Given the description of an element on the screen output the (x, y) to click on. 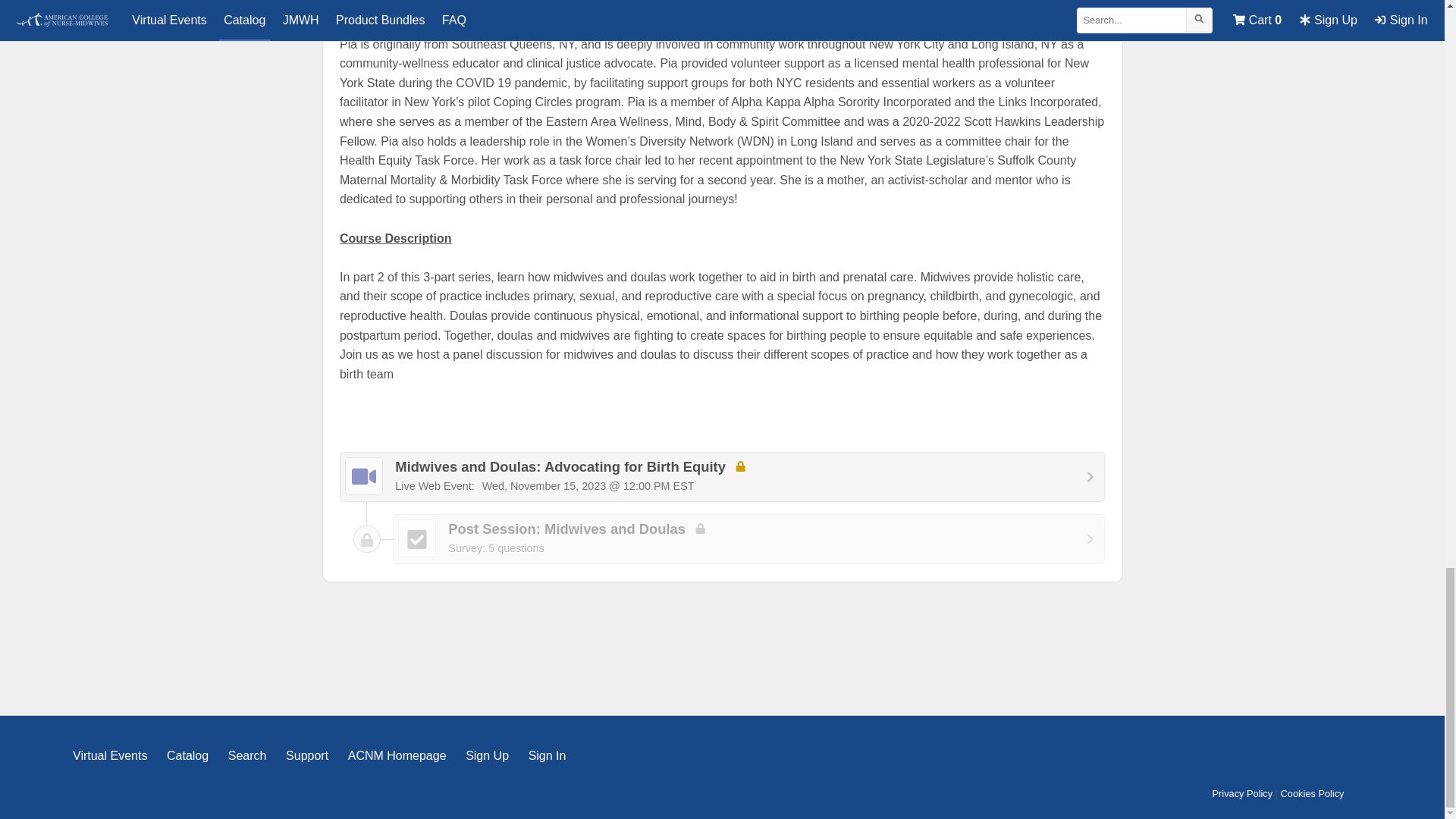
ACNM Homepage (749, 539)
Virtual Events (396, 755)
Support (109, 755)
Sign Up (307, 755)
Search (486, 755)
Privacy Policy (247, 755)
Cookies Policy (1243, 793)
Support (1312, 793)
ACNM Homepage (307, 755)
